Given the description of an element on the screen output the (x, y) to click on. 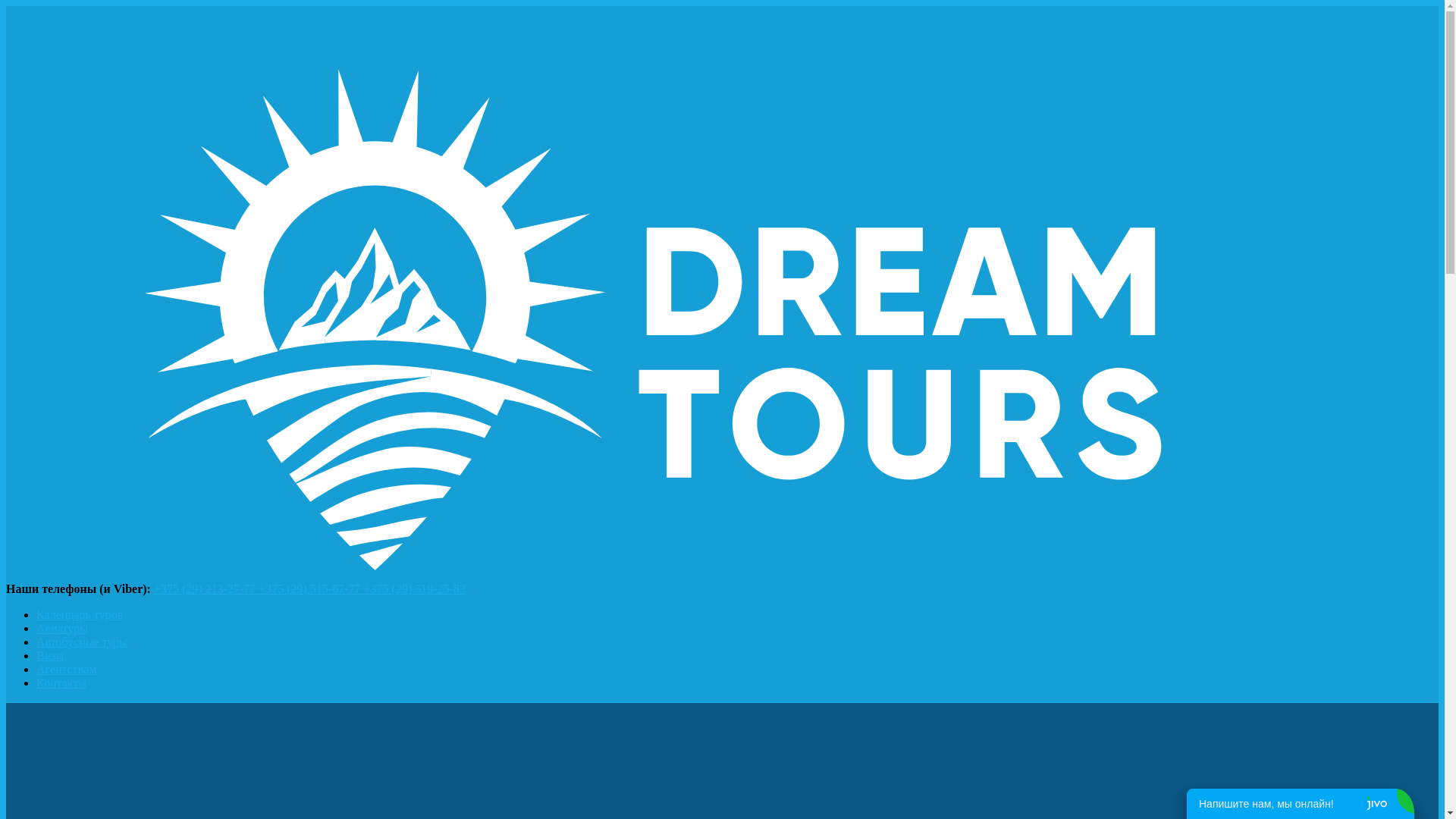
+375 (29) 515-67-77 Element type: text (310, 588)
Dream Tours Element type: hover (722, 574)
+375 (29) 519-25-83 Element type: text (414, 588)
+375 (29) 213-27-77 Element type: text (205, 588)
